Given the description of an element on the screen output the (x, y) to click on. 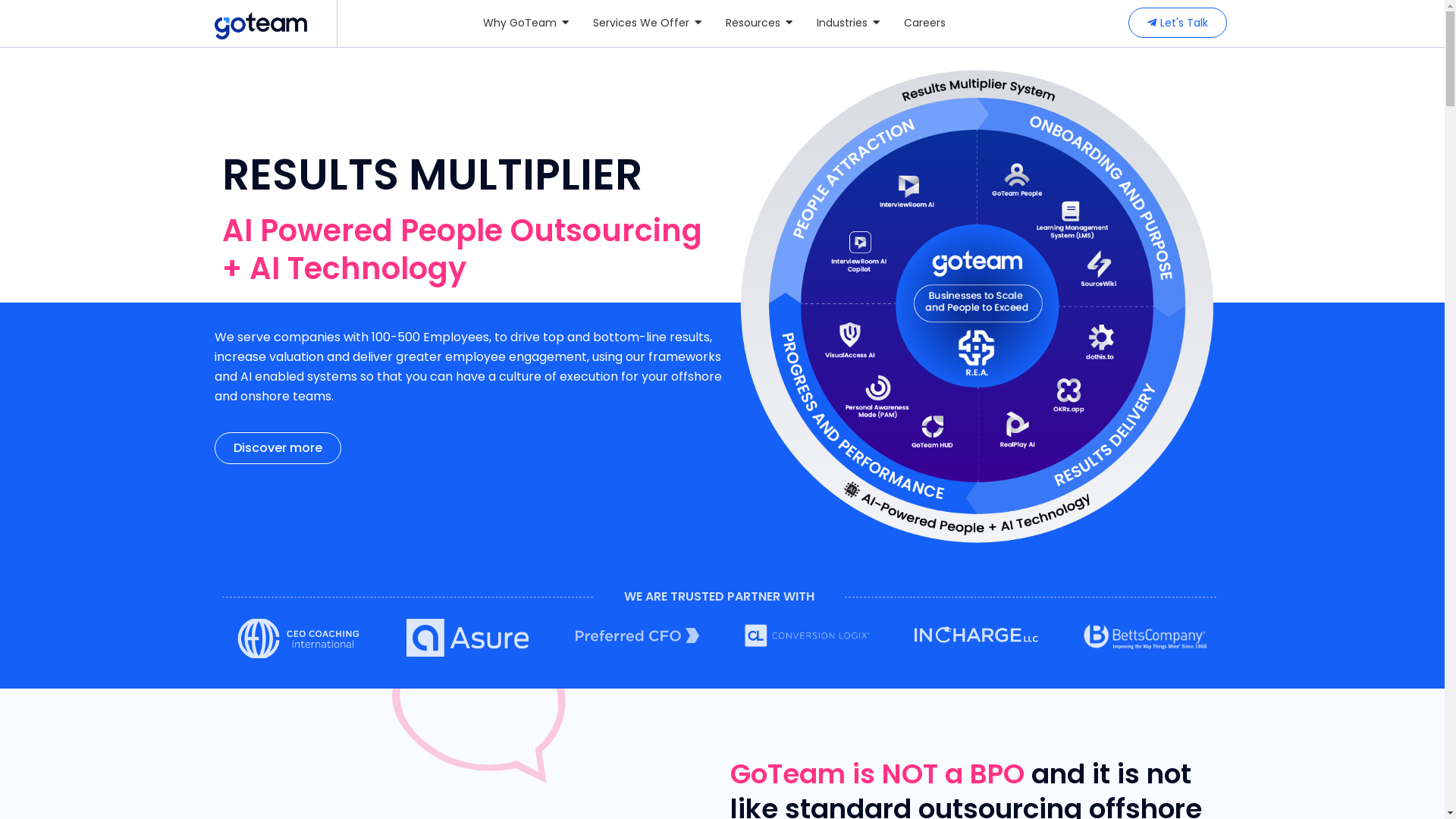
Resources Element type: text (758, 22)
Industries Element type: text (847, 22)
Careers Element type: text (924, 22)
Services We Offer Element type: text (647, 22)
Discover more Element type: text (276, 448)
Why GoTeam Element type: text (525, 22)
Let's Talk Element type: text (1177, 22)
goteam-ecosystem Element type: hover (975, 305)
